Given the description of an element on the screen output the (x, y) to click on. 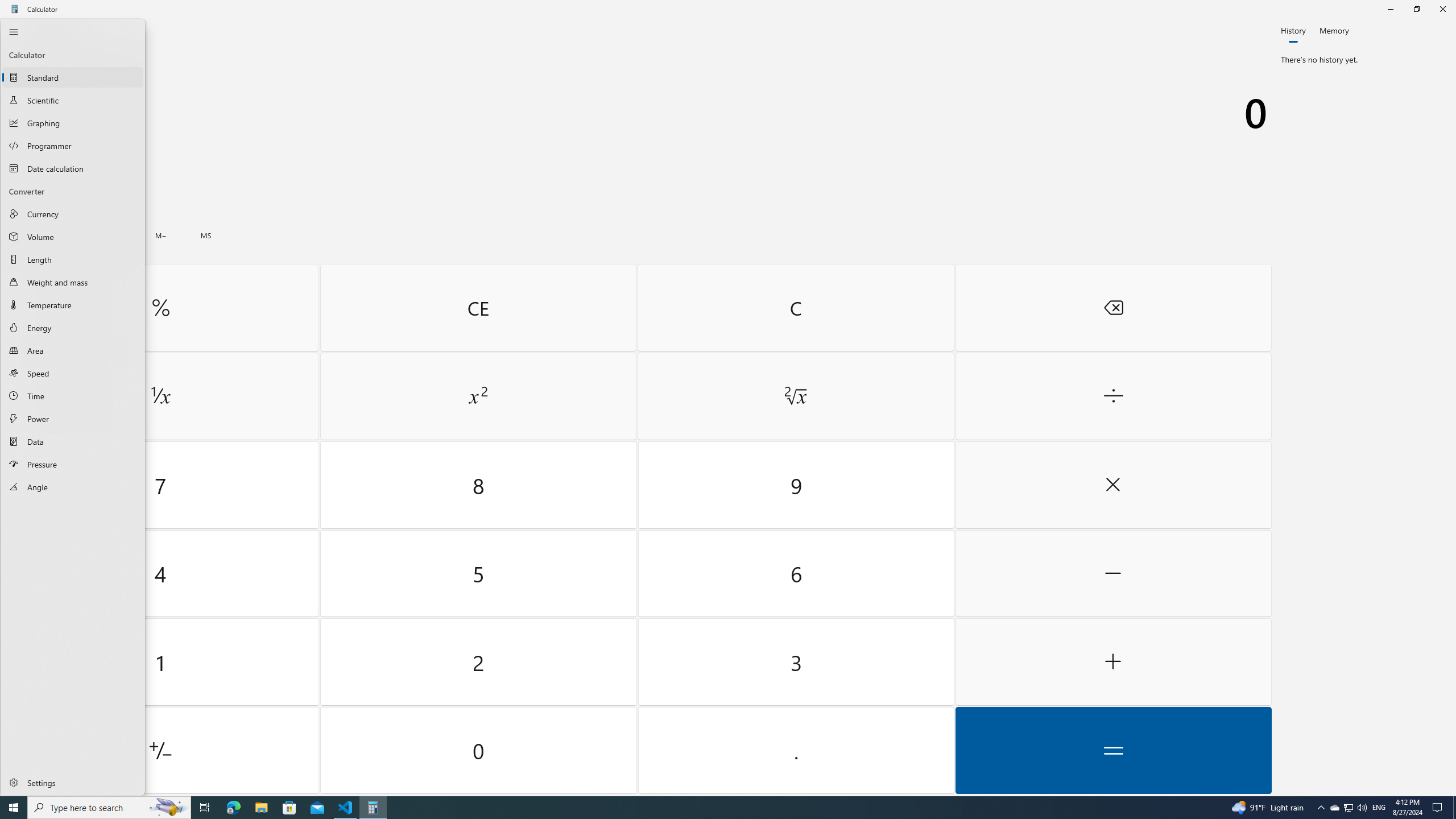
Four (160, 572)
Pressure Converter (72, 463)
